Given the description of an element on the screen output the (x, y) to click on. 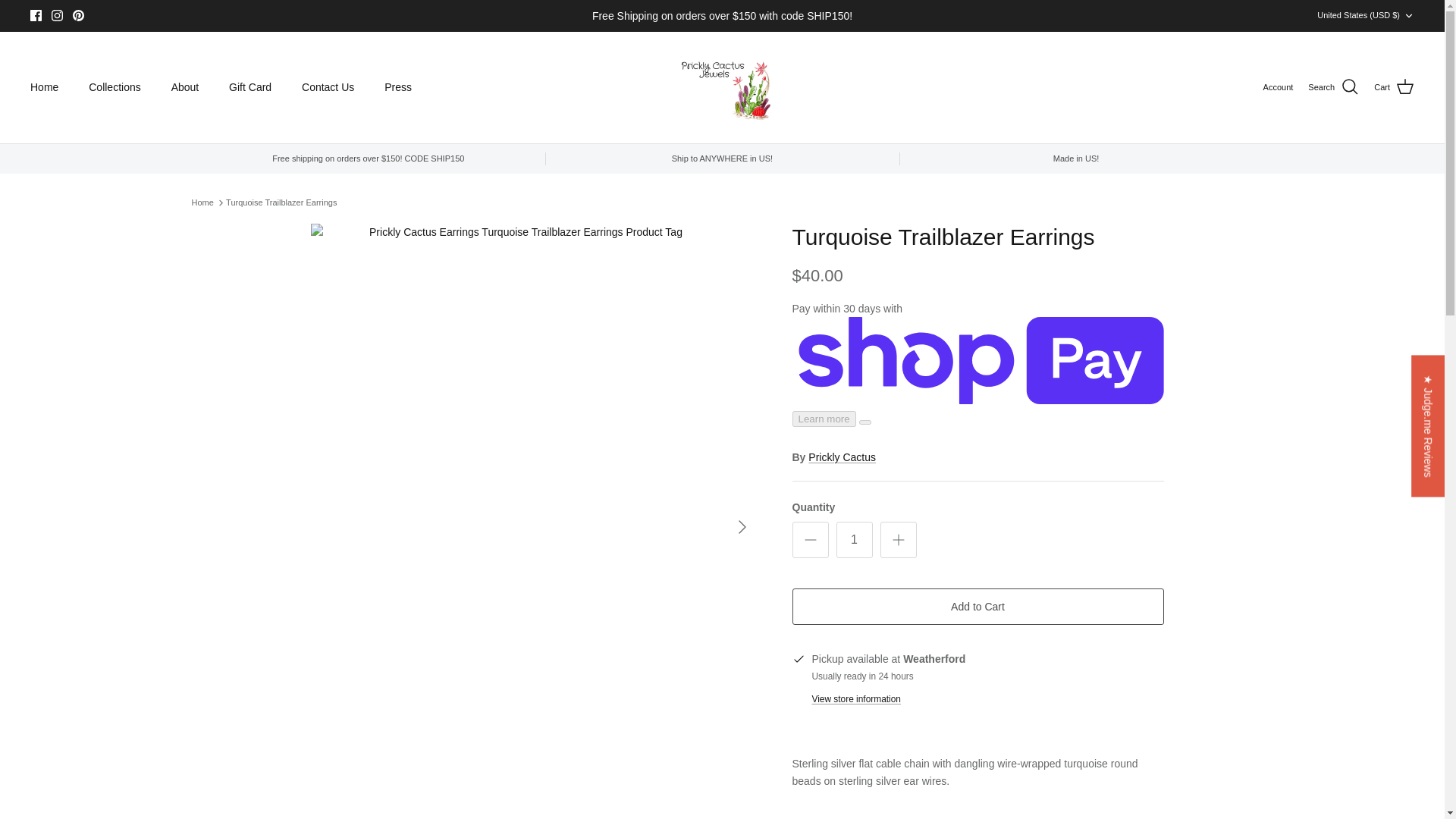
Pinterest (78, 15)
Instagram (56, 15)
Search (1332, 86)
Prickly Cactus Jewels (721, 86)
Down (1408, 15)
Facebook (36, 15)
Account (1278, 88)
Cart (1393, 86)
Home (43, 87)
About (184, 87)
Right (741, 526)
Minus (809, 539)
Contact Us (328, 87)
Pinterest (78, 15)
Collections (114, 87)
